Given the description of an element on the screen output the (x, y) to click on. 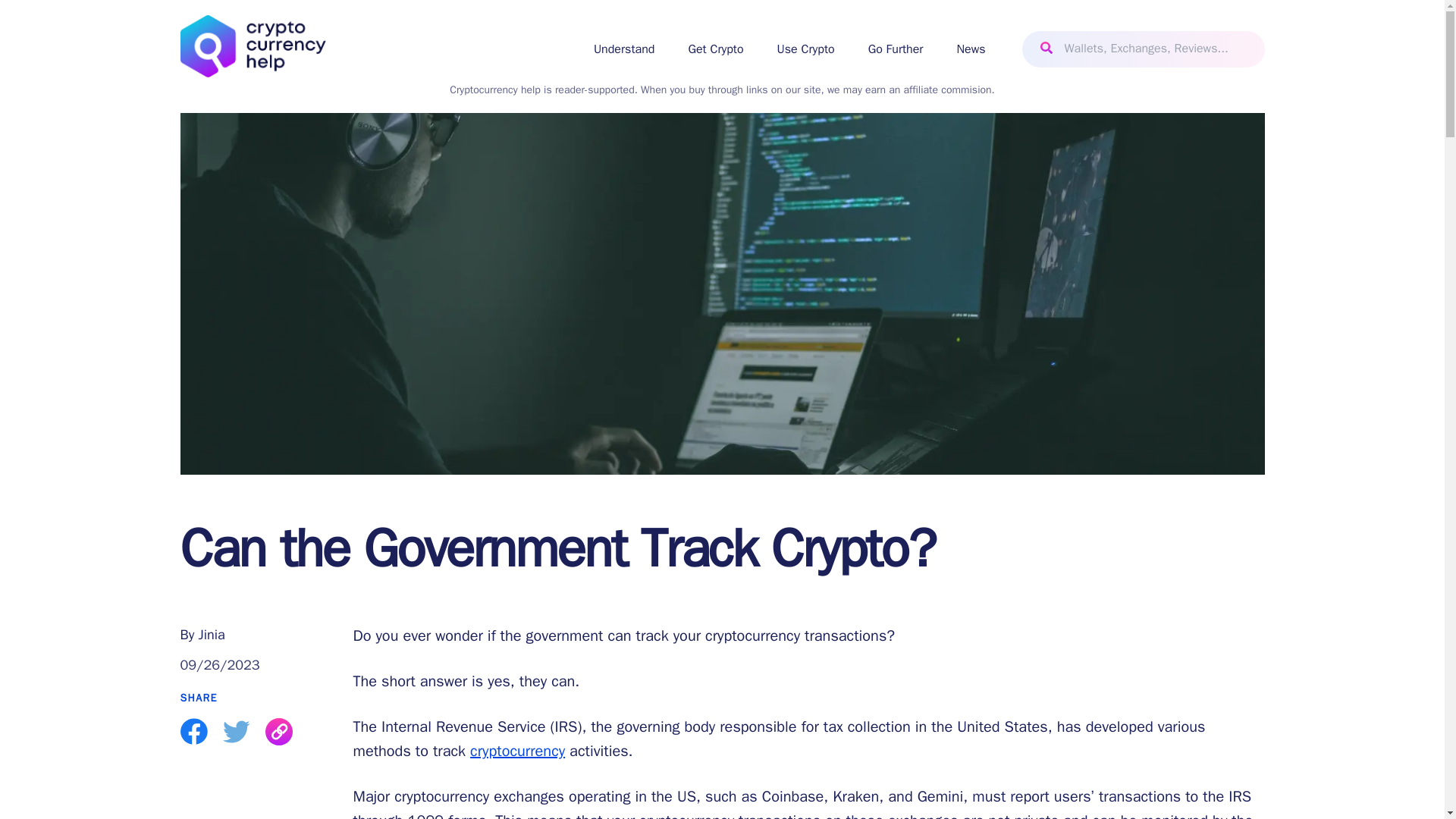
cryptocurrency (517, 751)
Go Further (895, 49)
Understand (624, 49)
News (970, 49)
Use Crypto (805, 49)
Get Crypto (714, 49)
